Given the description of an element on the screen output the (x, y) to click on. 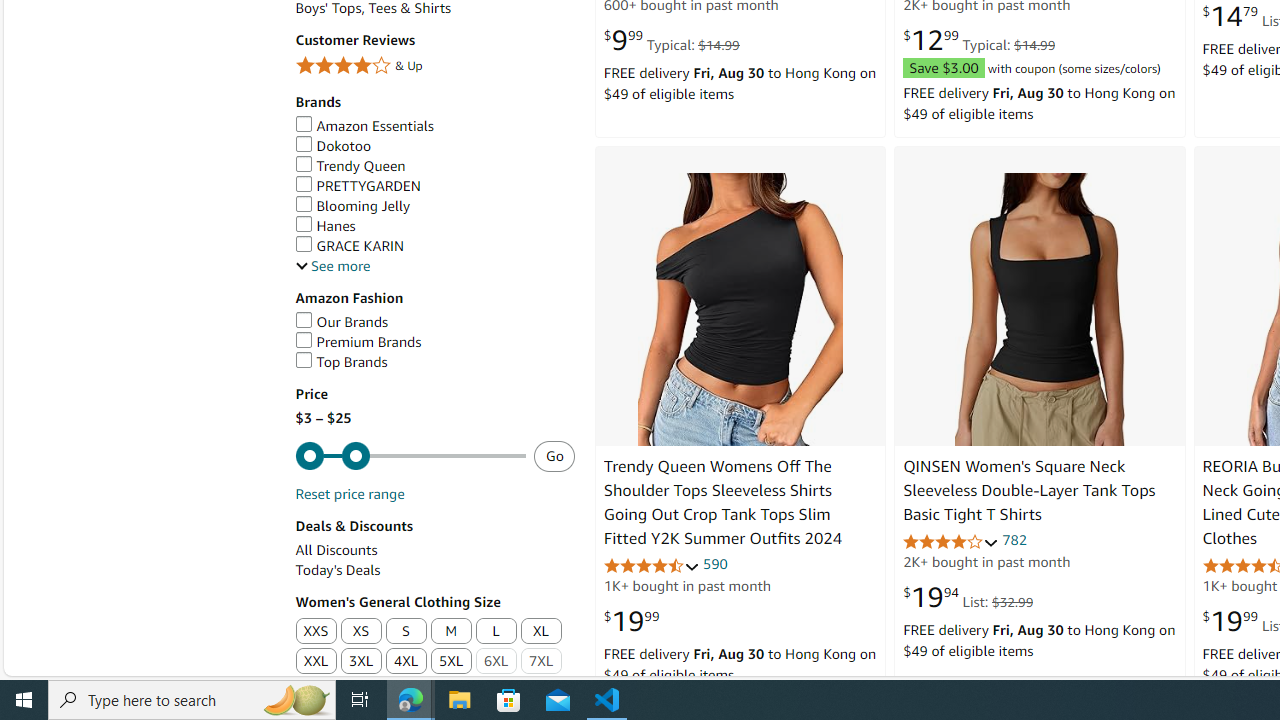
XXL (316, 662)
$19.94 List: $32.99 (968, 596)
Dokotoo (333, 146)
XXS (315, 632)
Go back to filtering menu (84, 666)
M (451, 631)
S (406, 632)
4.2 out of 5 stars (950, 541)
Trendy Queen (349, 165)
All Discounts (335, 550)
Go - Submit price range (554, 455)
5XL (451, 662)
4.3 out of 5 stars (651, 565)
PRETTYGARDEN (357, 185)
PRETTYGARDEN (434, 186)
